Given the description of an element on the screen output the (x, y) to click on. 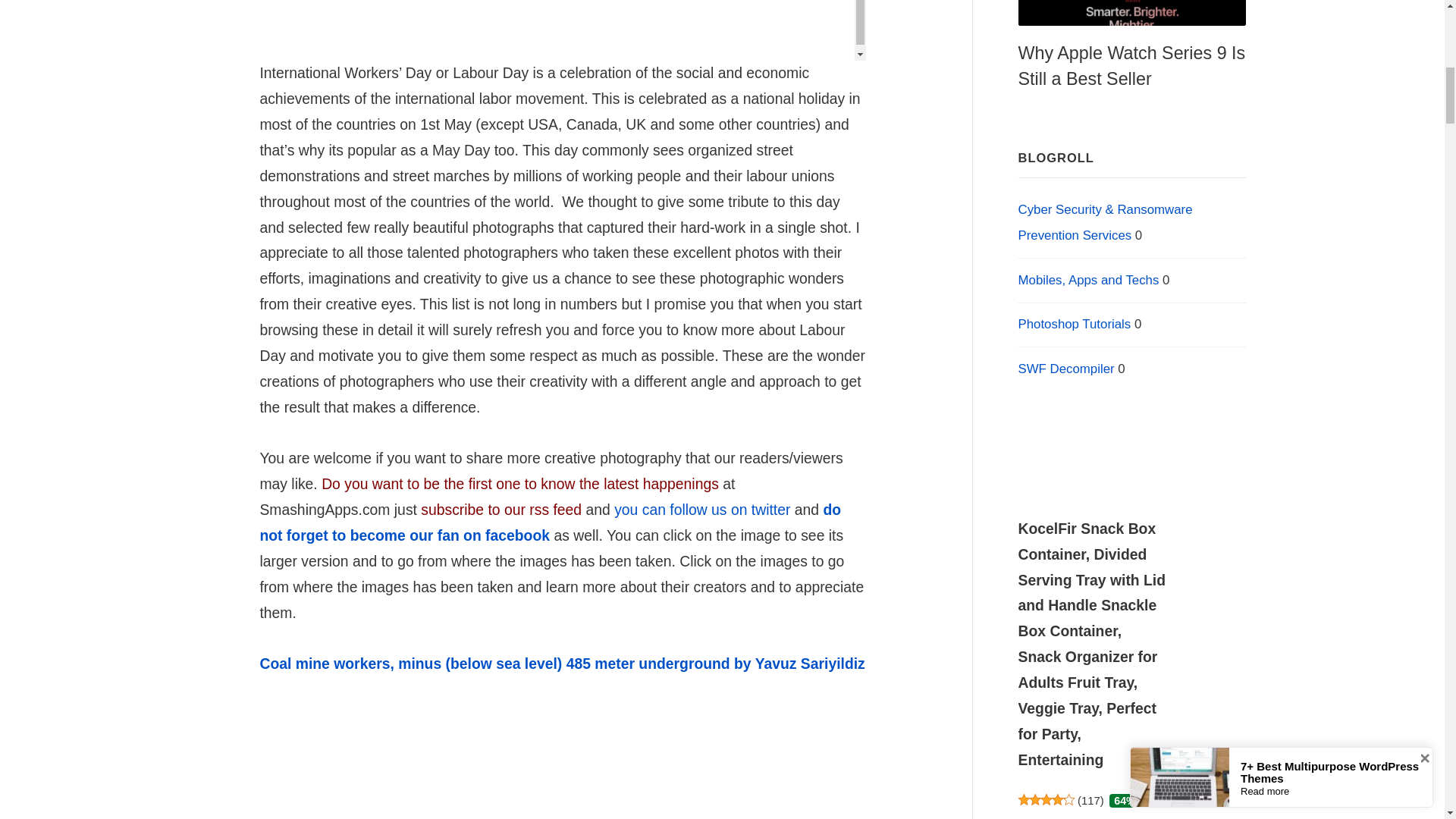
you can follow us on twitter (702, 509)
Advertisement (561, 16)
subscribe to our rss feed (500, 509)
do not forget to become our fan on facebook (550, 522)
